Given the description of an element on the screen output the (x, y) to click on. 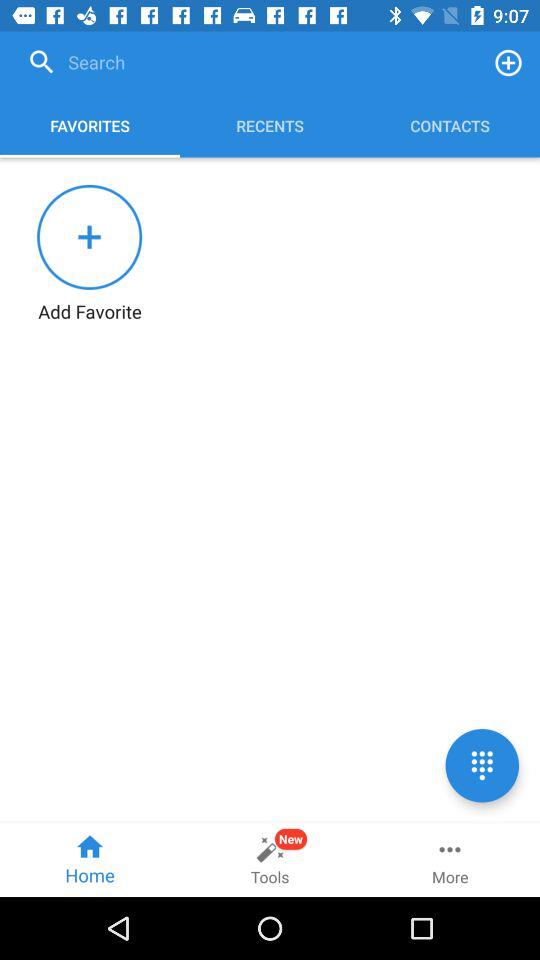
search contacts (249, 62)
